Given the description of an element on the screen output the (x, y) to click on. 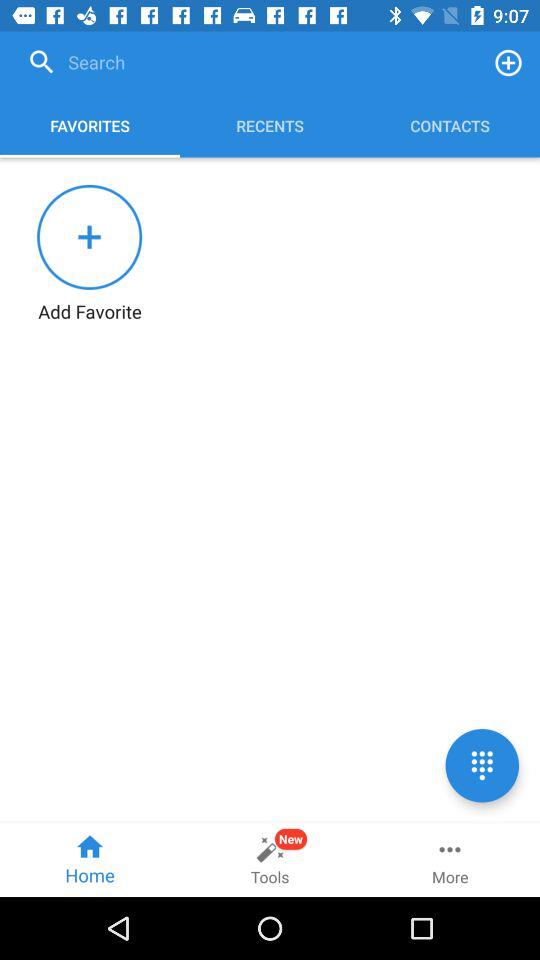
search contacts (249, 62)
